Given the description of an element on the screen output the (x, y) to click on. 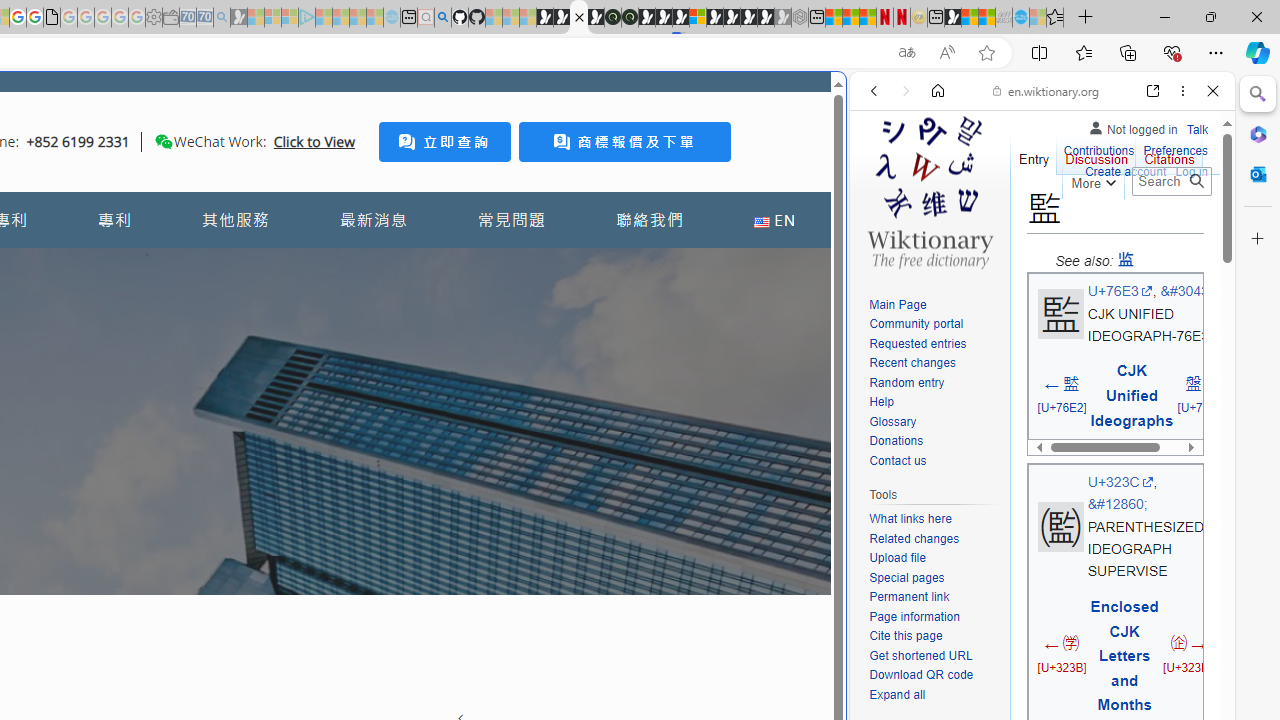
Special pages (934, 578)
Main Page (897, 303)
Search Wiktionary (1171, 181)
Log in (1191, 169)
Main Page (934, 305)
What links here (934, 519)
